Given the description of an element on the screen output the (x, y) to click on. 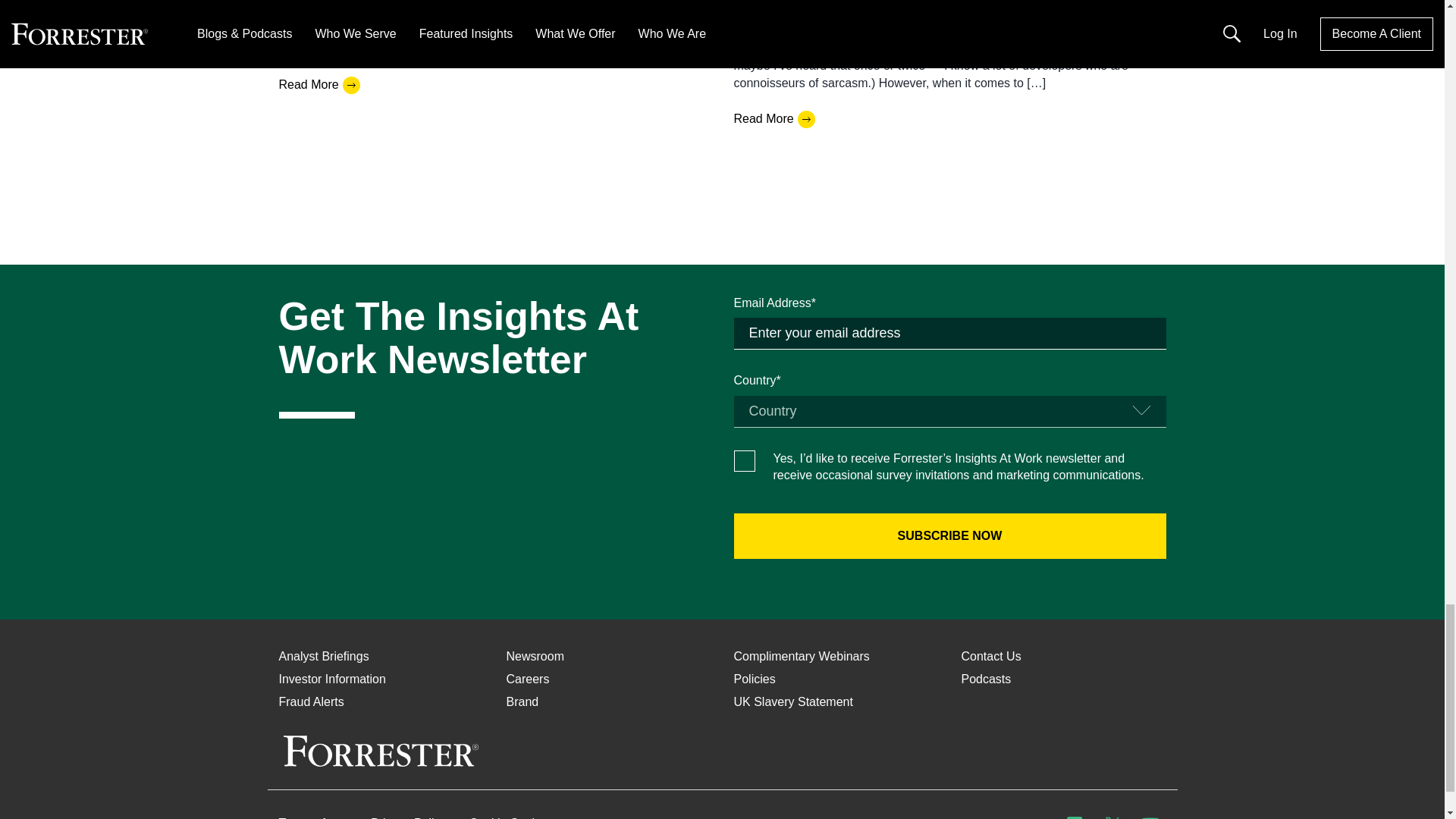
Subscribe Now (949, 534)
